Given the description of an element on the screen output the (x, y) to click on. 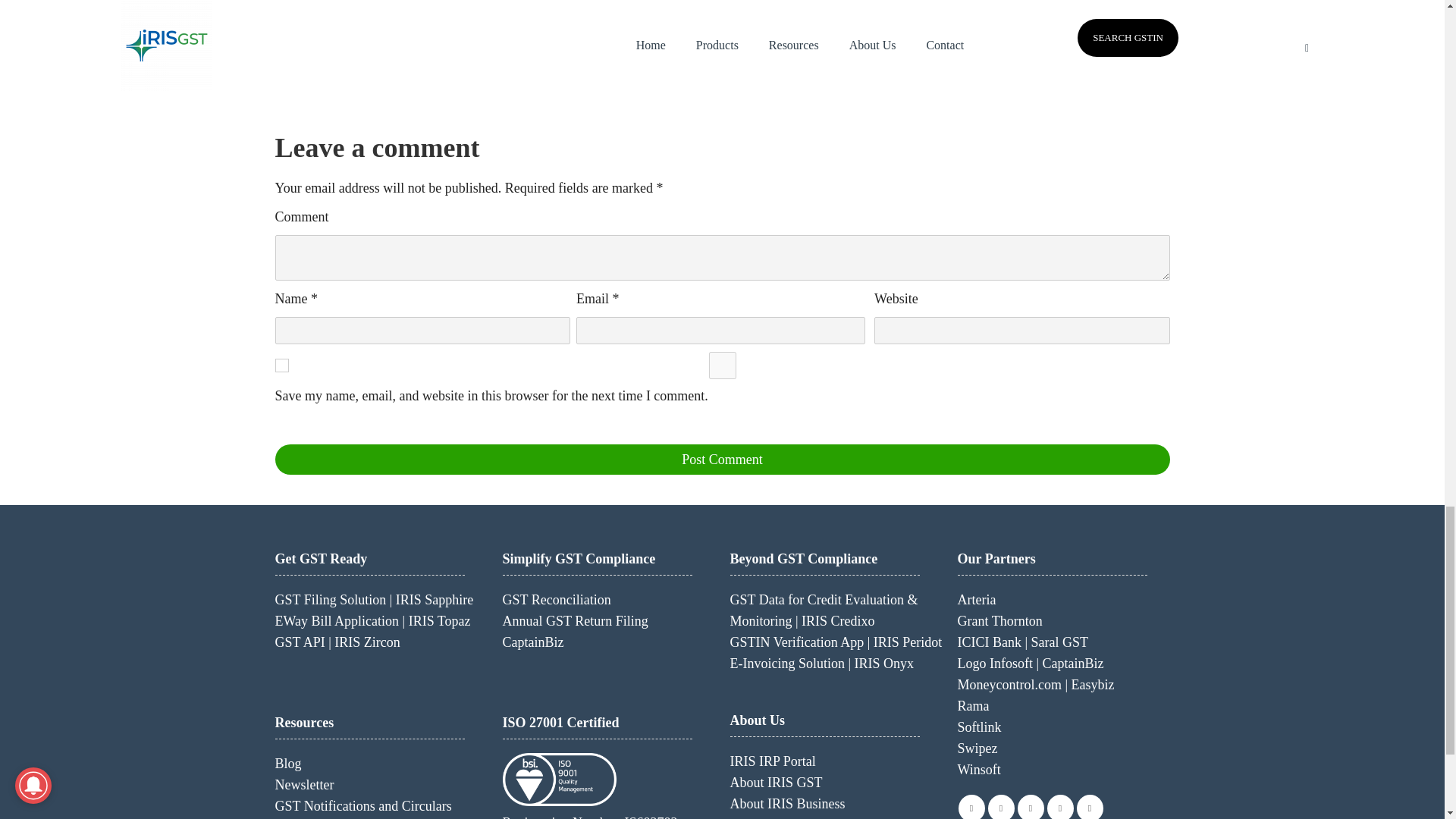
Please wait until Google reCAPTCHA is loaded. (722, 459)
Post Comment (722, 459)
yes (722, 365)
